Given the description of an element on the screen output the (x, y) to click on. 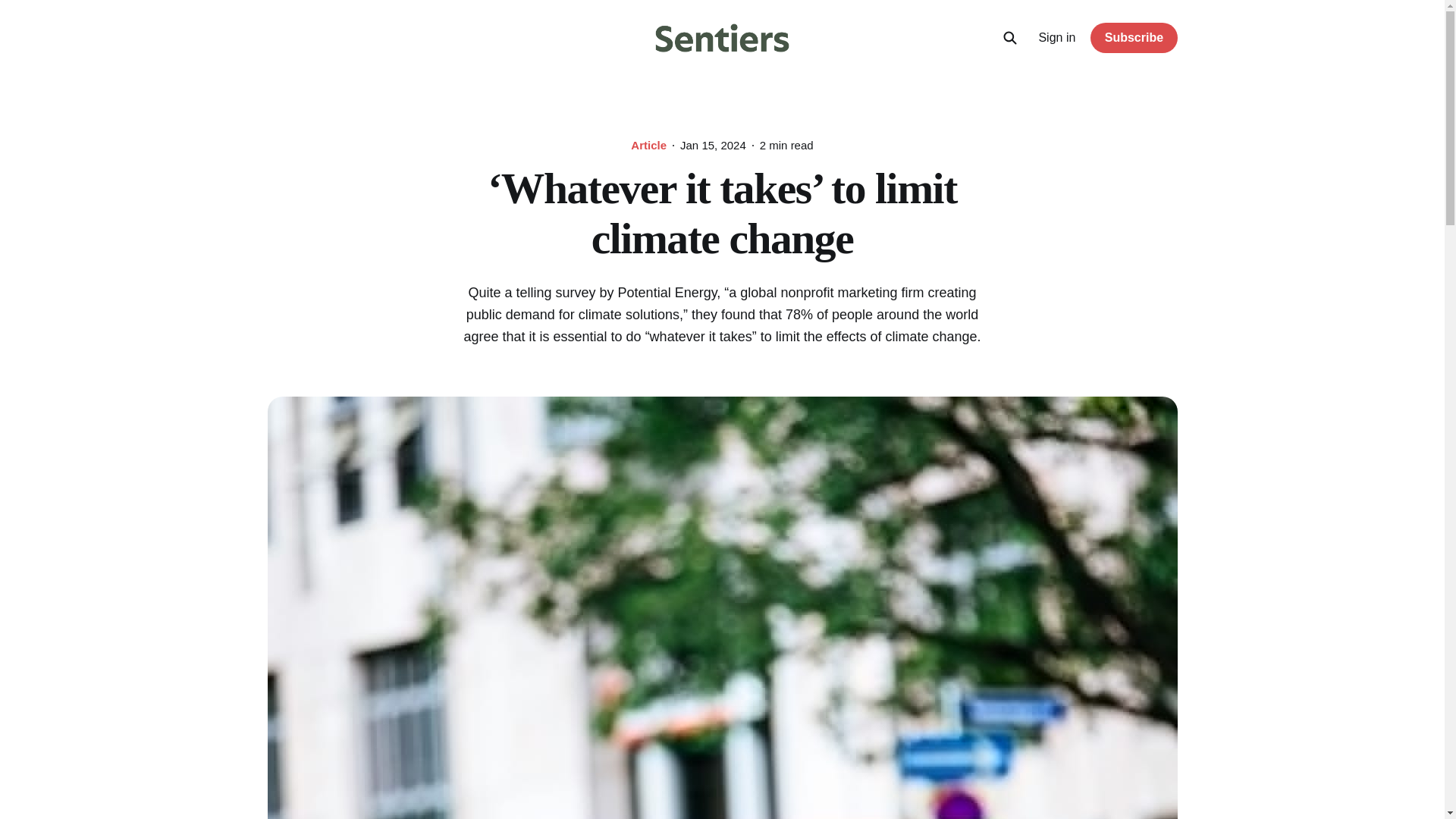
Sign in (1056, 37)
Subscribe (1133, 37)
Article (648, 145)
